Given the description of an element on the screen output the (x, y) to click on. 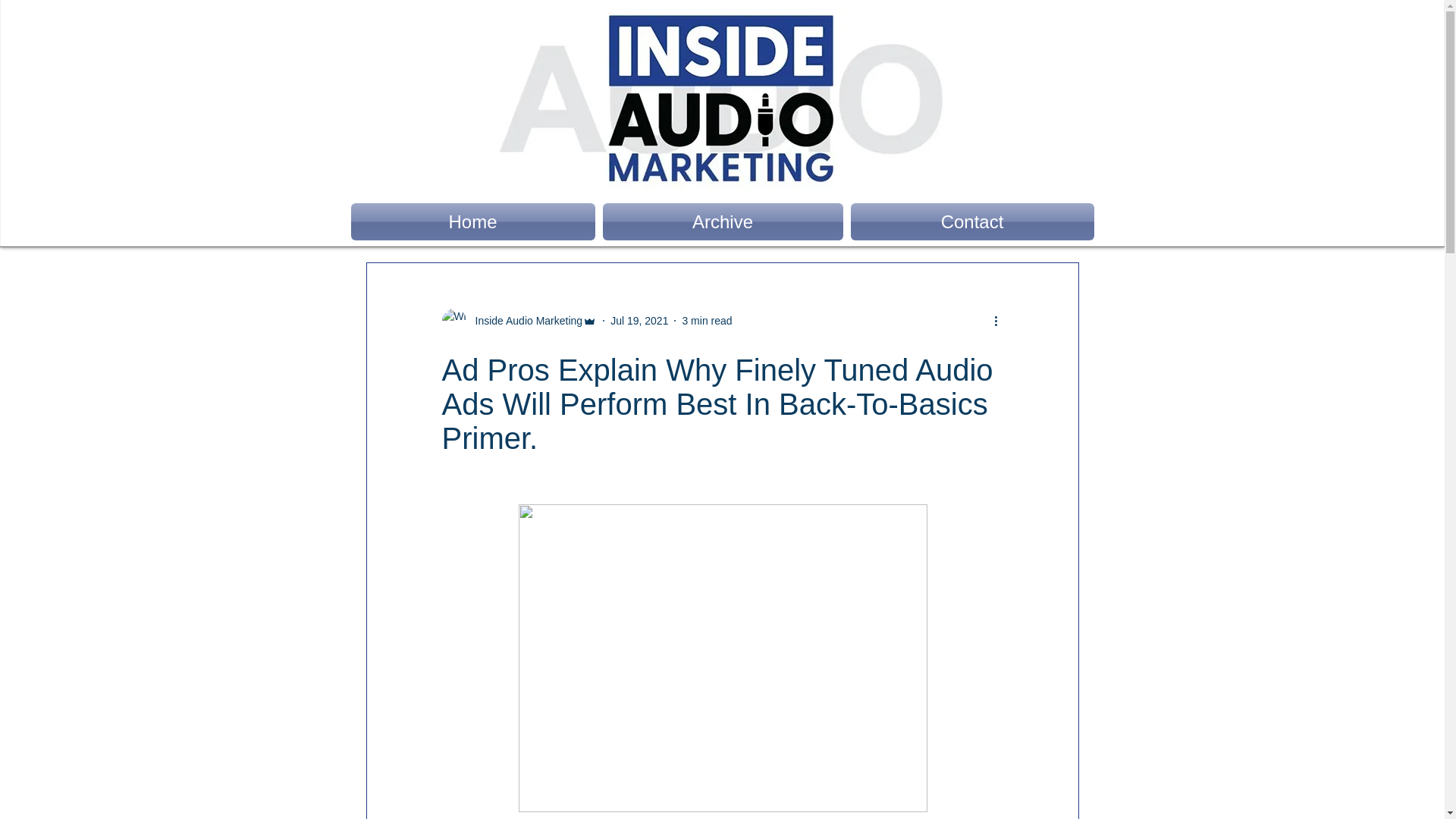
Inside Audio Marketing (518, 320)
Contact (969, 221)
Archive (722, 221)
Inside Audio Marketing (523, 320)
Jul 19, 2021 (639, 319)
3 min read (706, 319)
Home (474, 221)
